Given the description of an element on the screen output the (x, y) to click on. 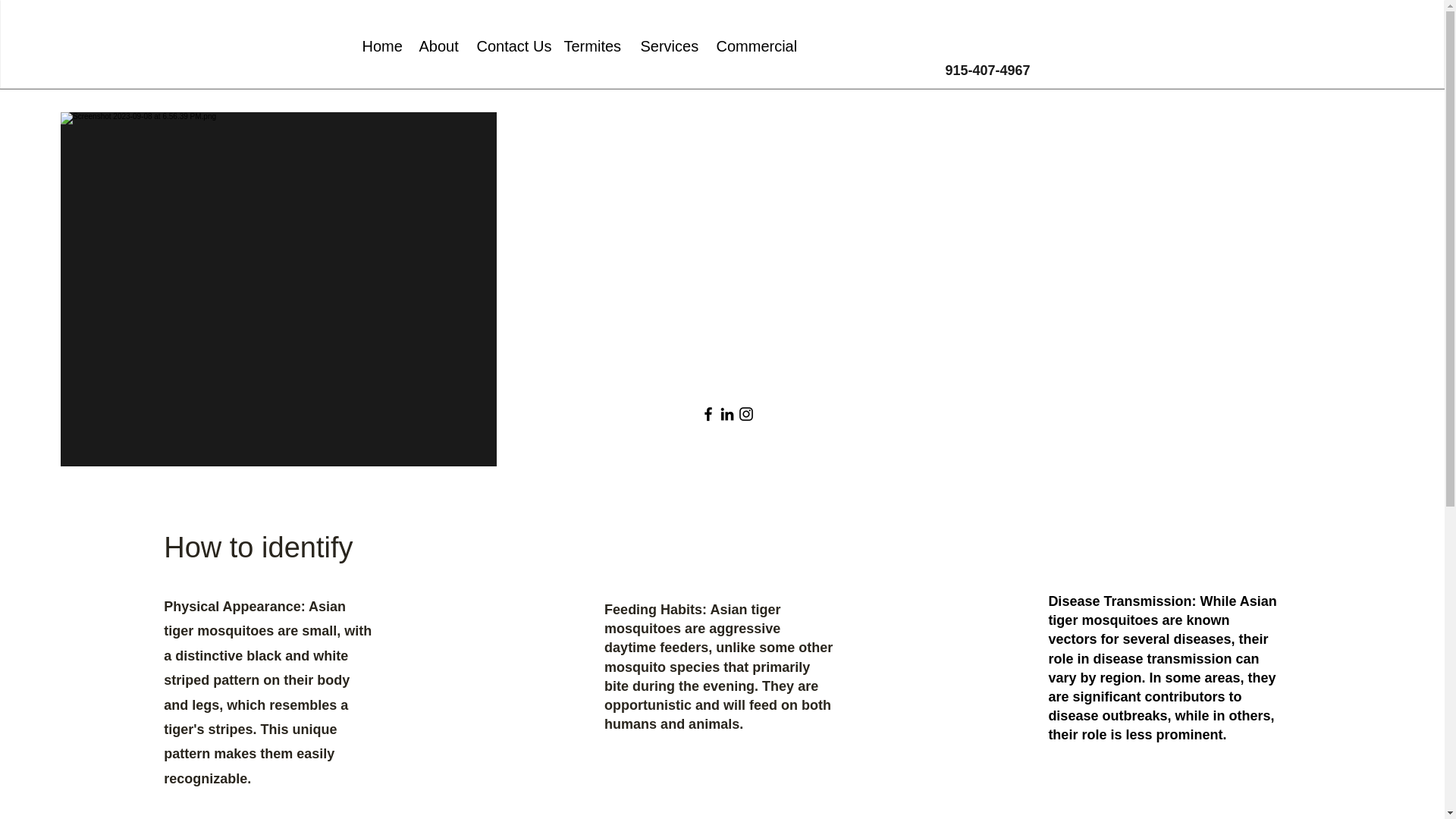
Home (378, 45)
Termites (589, 45)
Contact Us (509, 45)
Services (666, 45)
Commercial (752, 45)
About (436, 45)
